Given the description of an element on the screen output the (x, y) to click on. 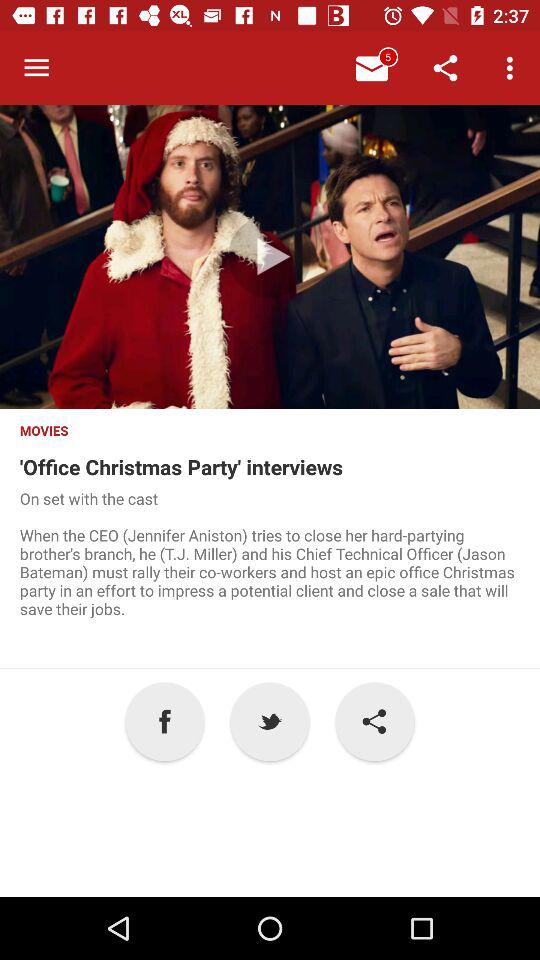
select icon to the left of the p item (164, 721)
